Given the description of an element on the screen output the (x, y) to click on. 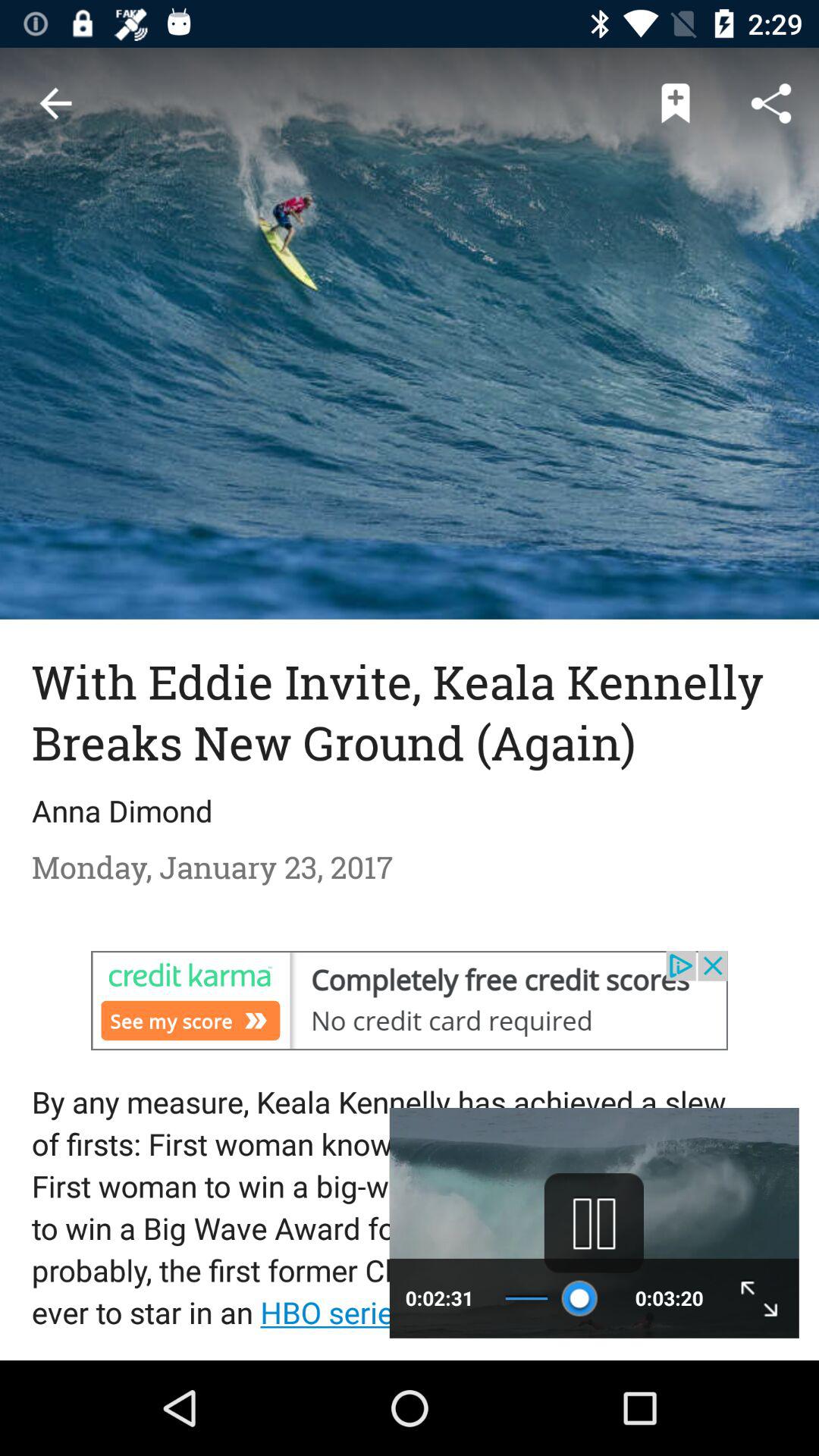
click the share button on the top right corner of the web page (771, 103)
